Given the description of an element on the screen output the (x, y) to click on. 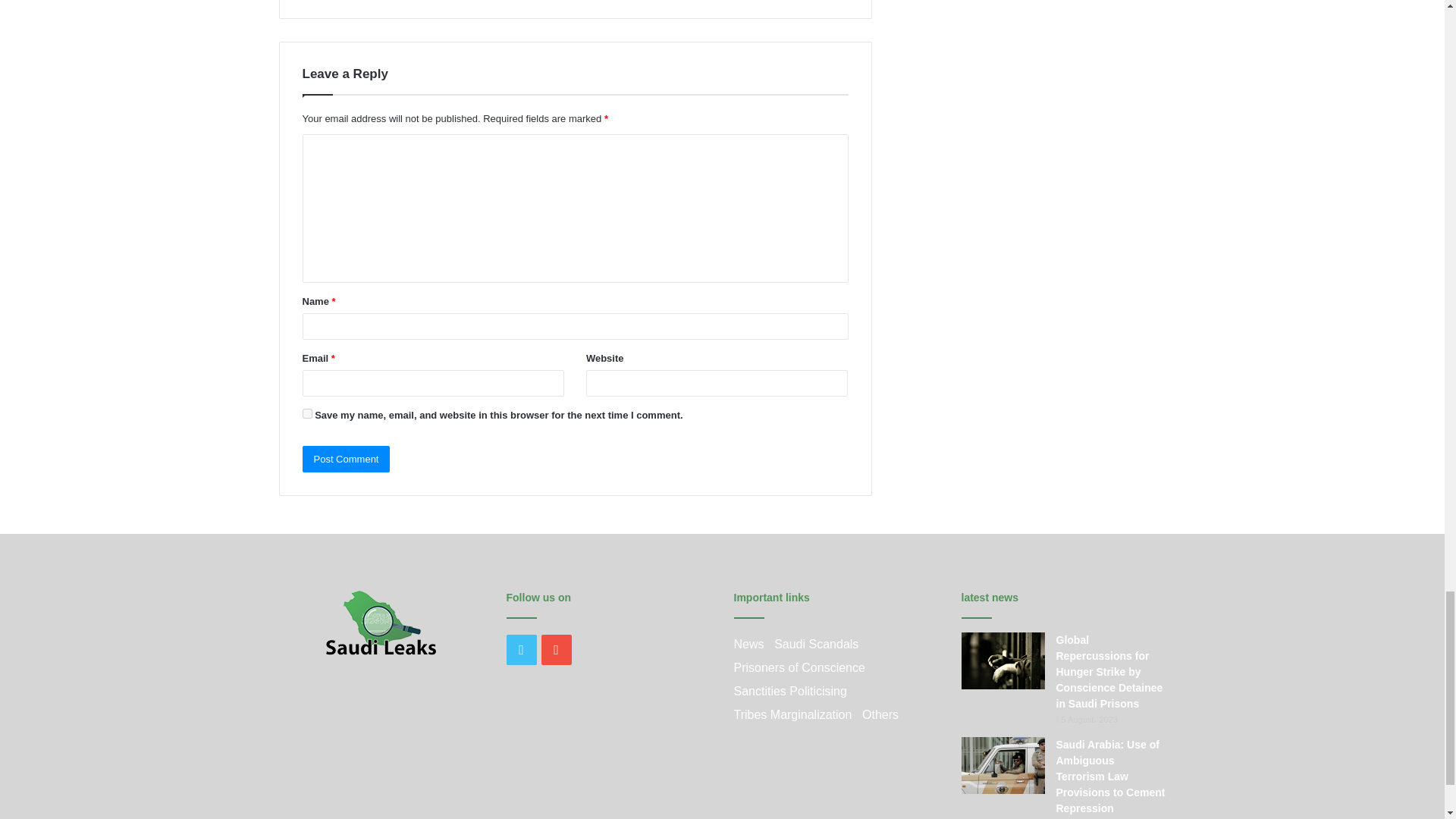
Post Comment (345, 458)
Post Comment (345, 458)
yes (306, 413)
